Given the description of an element on the screen output the (x, y) to click on. 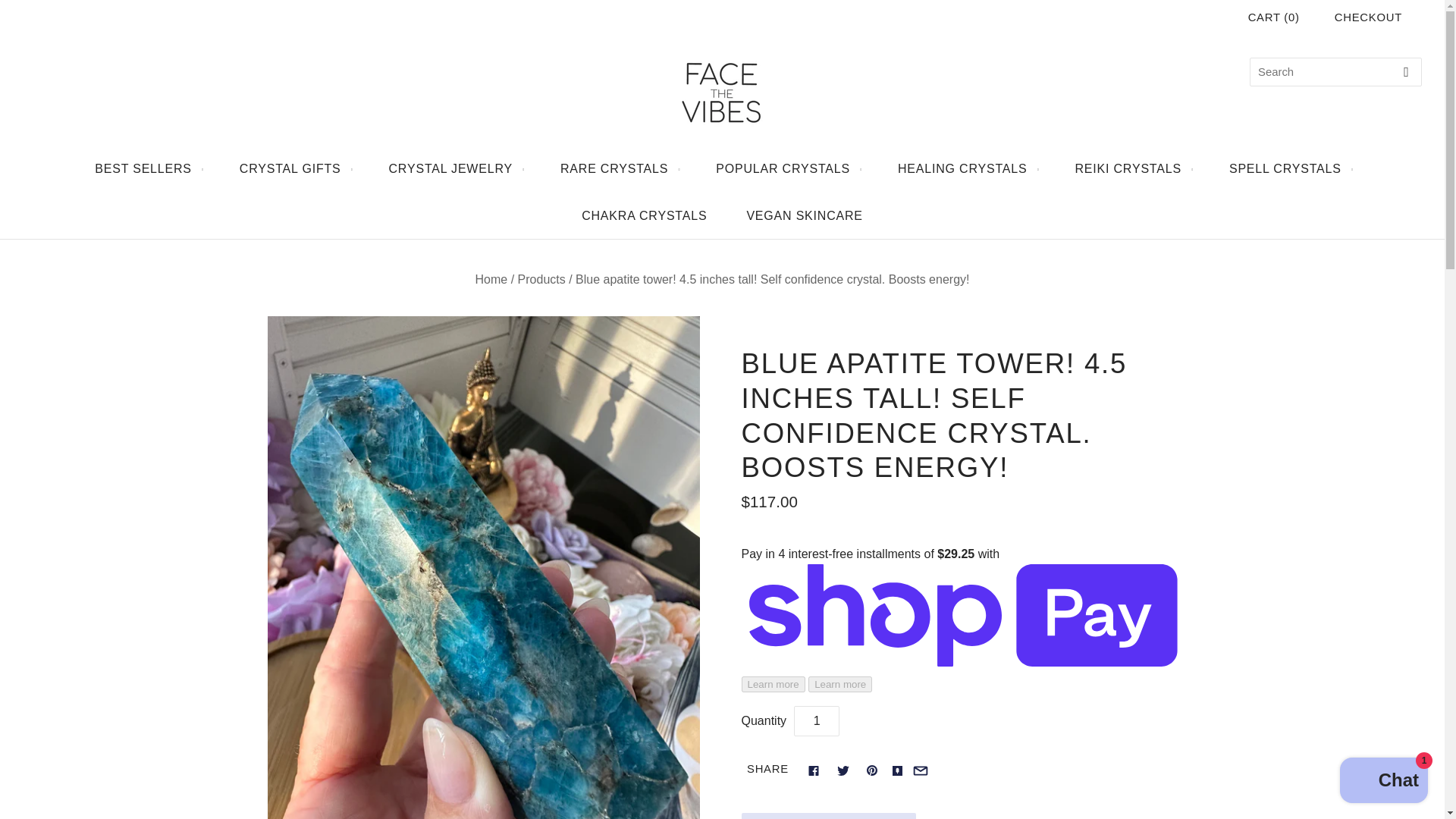
CHECKOUT (1368, 17)
BEST SELLERS (147, 168)
POPULAR CRYSTALS (786, 168)
CRYSTAL GIFTS (294, 168)
1 (816, 720)
RARE CRYSTALS (617, 168)
Shopify online store chat (1383, 781)
Add to cart (828, 816)
CRYSTAL JEWELRY (454, 168)
